Given the description of an element on the screen output the (x, y) to click on. 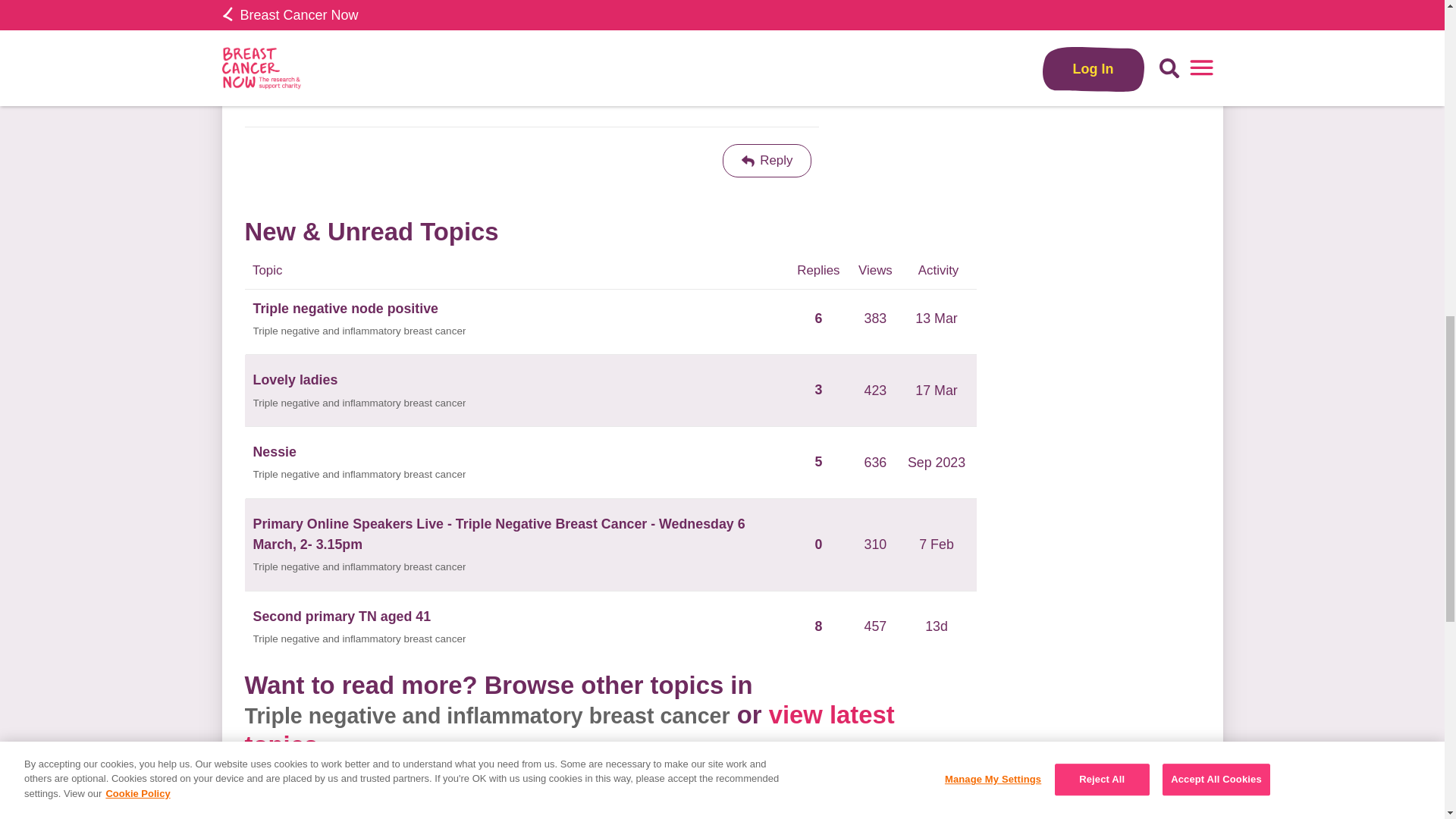
Lovely ladies (295, 380)
like this post (742, 82)
Reply (767, 160)
this topic has been viewed 636 times (875, 462)
this topic has been viewed 310 times (875, 544)
this topic has been viewed 423 times (875, 390)
Triple negative node positive (346, 308)
Triple negative and inflammatory breast cancer (359, 474)
This topic has 6 replies (818, 326)
Triple negative and inflammatory breast cancer (359, 567)
